Given the description of an element on the screen output the (x, y) to click on. 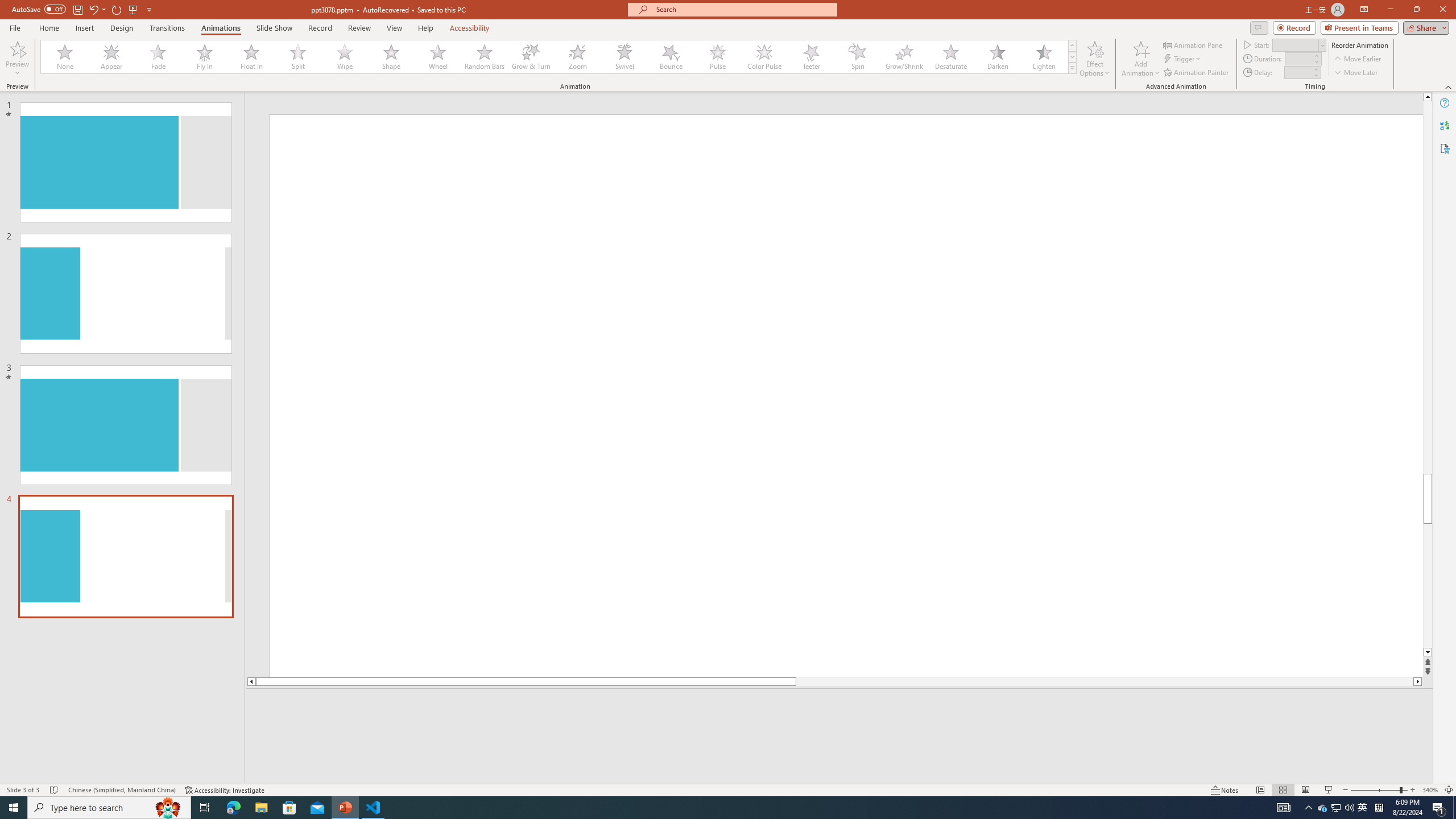
Animation Duration (1298, 58)
None (65, 56)
Add Animation (1141, 58)
Zoom 340% (1430, 790)
Split (298, 56)
Less (1315, 75)
